Given the description of an element on the screen output the (x, y) to click on. 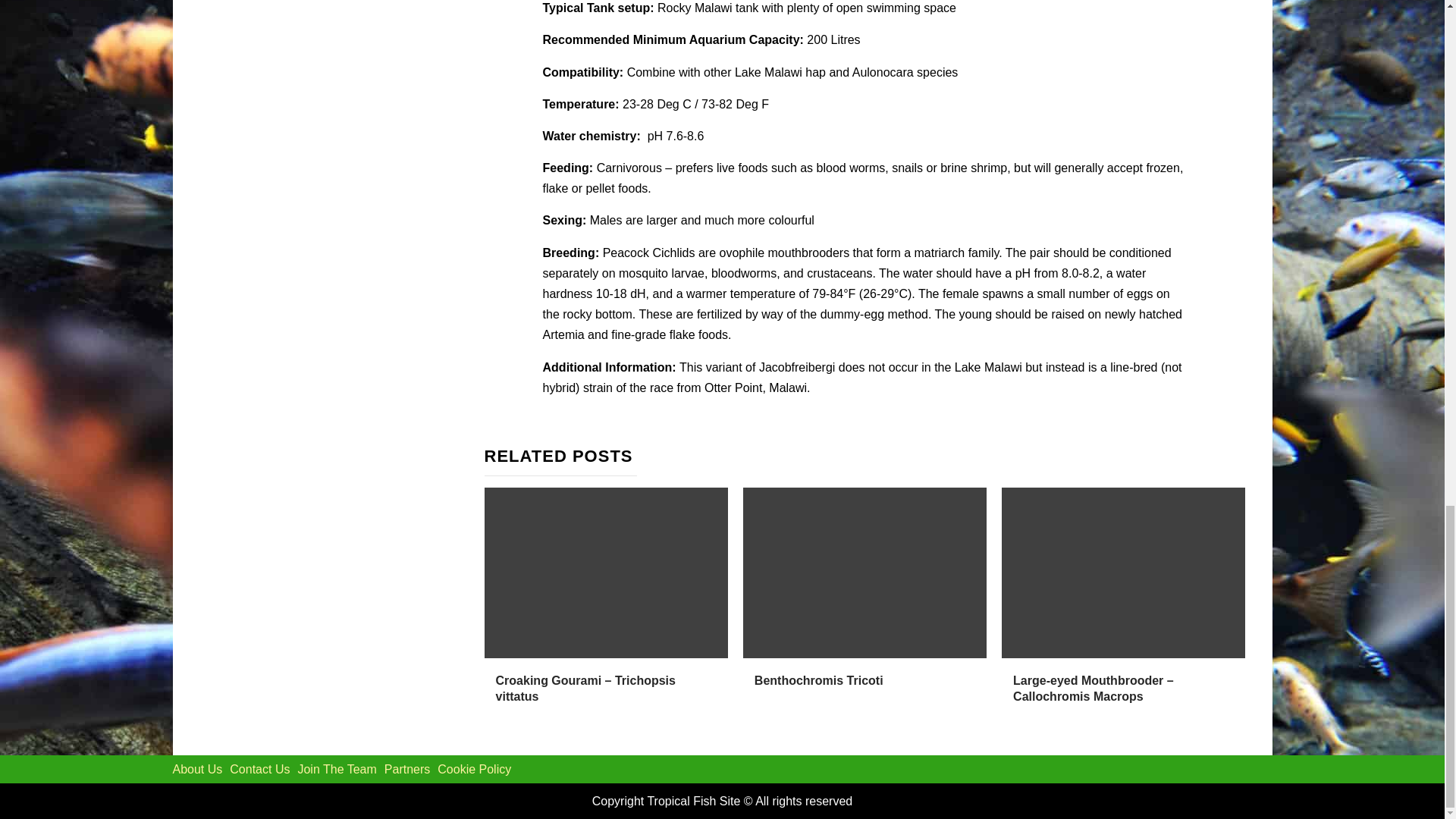
About Us (197, 768)
Benthochromis Tricoti (818, 680)
Partners (406, 768)
Cookie Policy (474, 768)
Contact Us (259, 768)
Join The Team (336, 768)
